Given the description of an element on the screen output the (x, y) to click on. 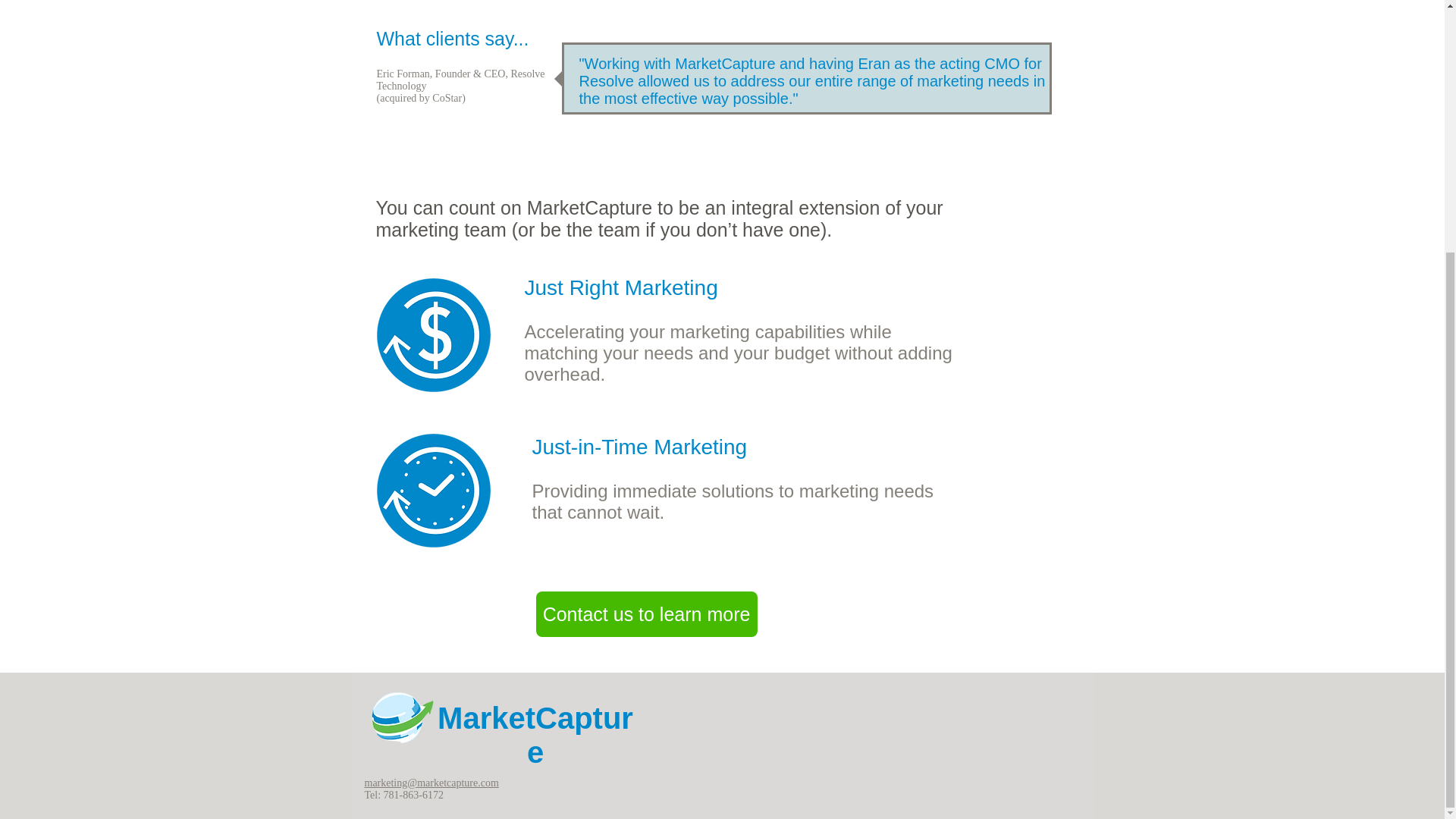
Contact us to learn more (646, 614)
optimize-256.png (432, 335)
